Given the description of an element on the screen output the (x, y) to click on. 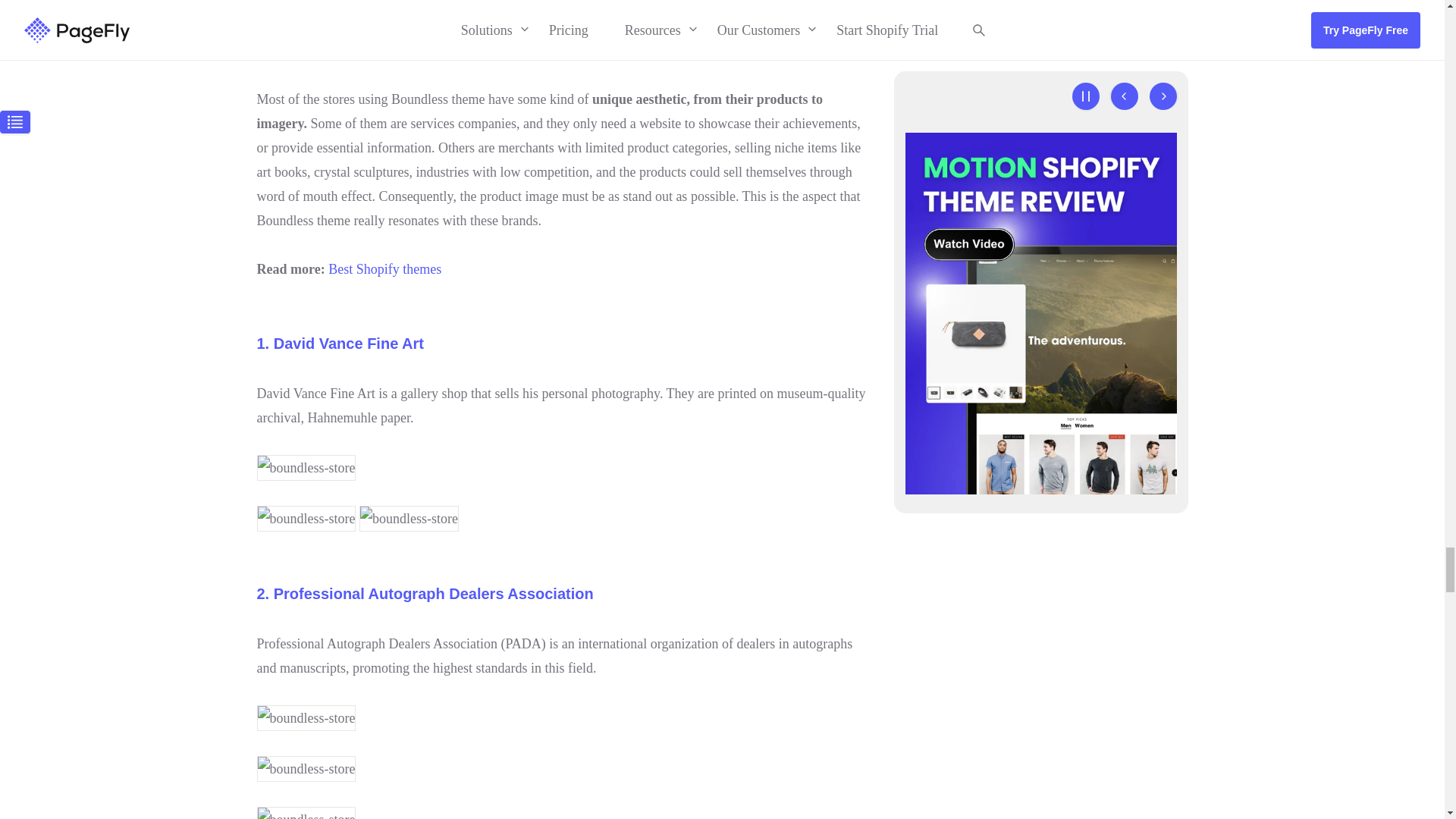
best shopify themes (385, 268)
